Given the description of an element on the screen output the (x, y) to click on. 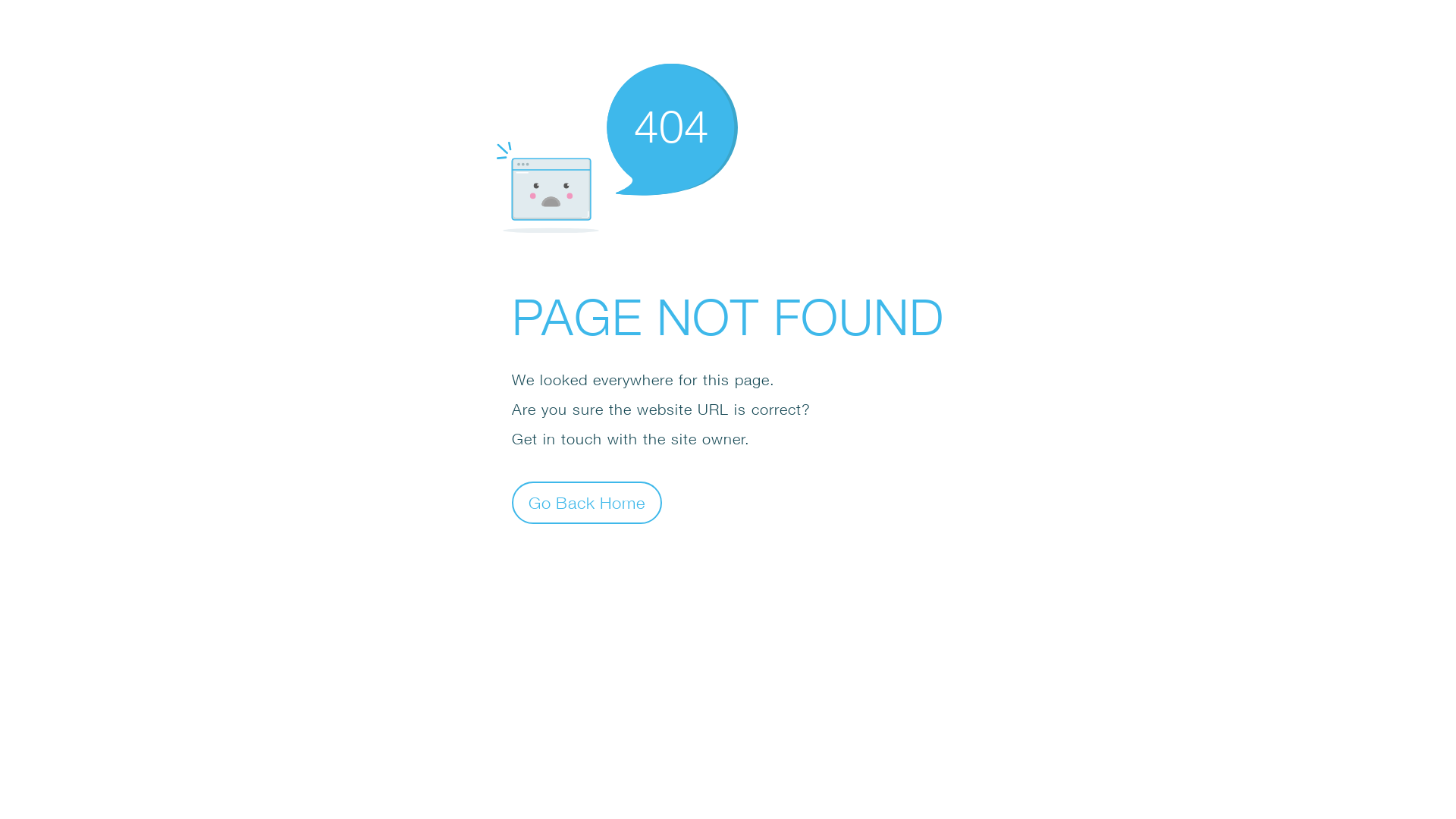
Go Back Home Element type: text (586, 502)
